Given the description of an element on the screen output the (x, y) to click on. 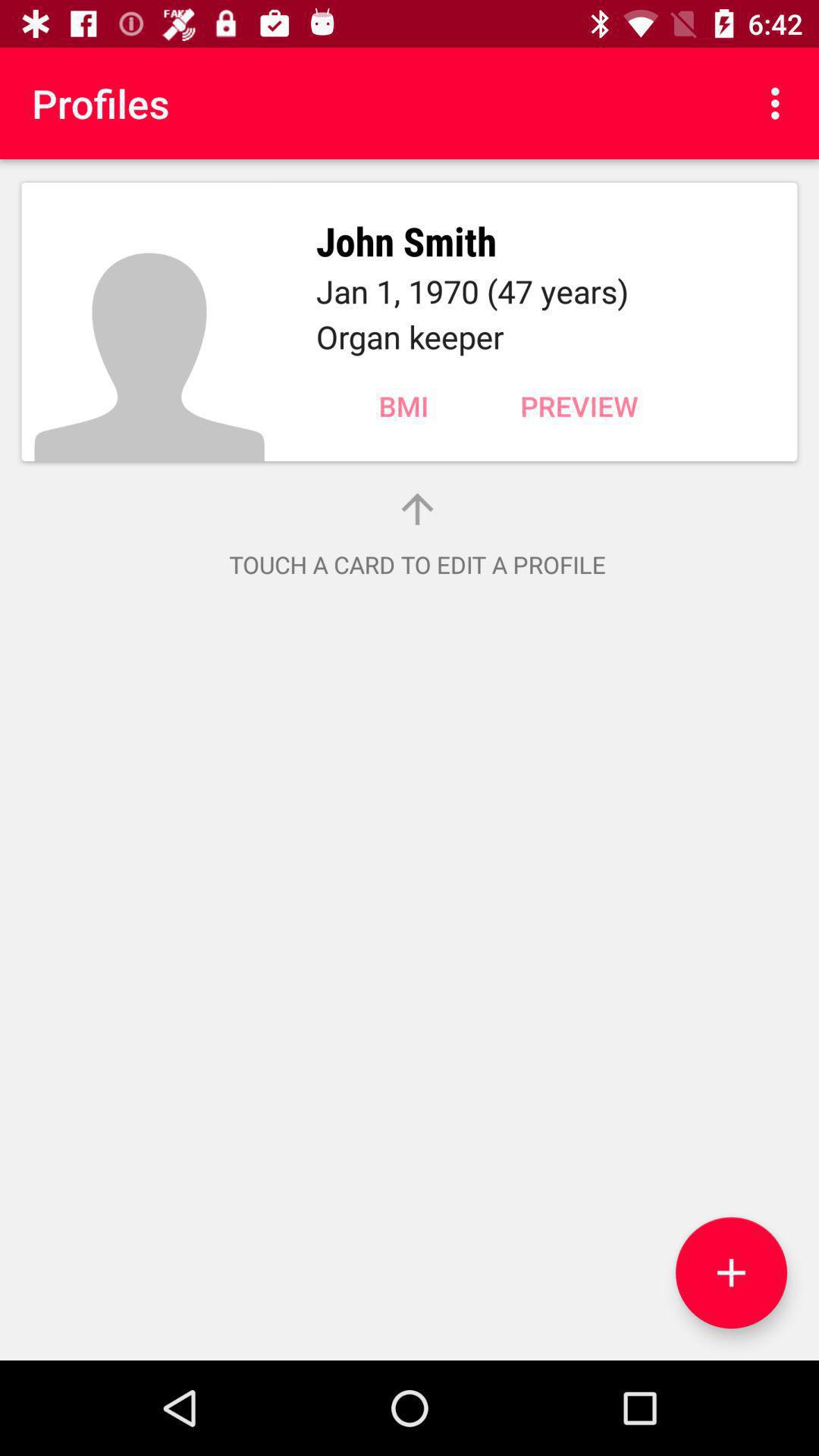
swipe until the bmi item (403, 405)
